Given the description of an element on the screen output the (x, y) to click on. 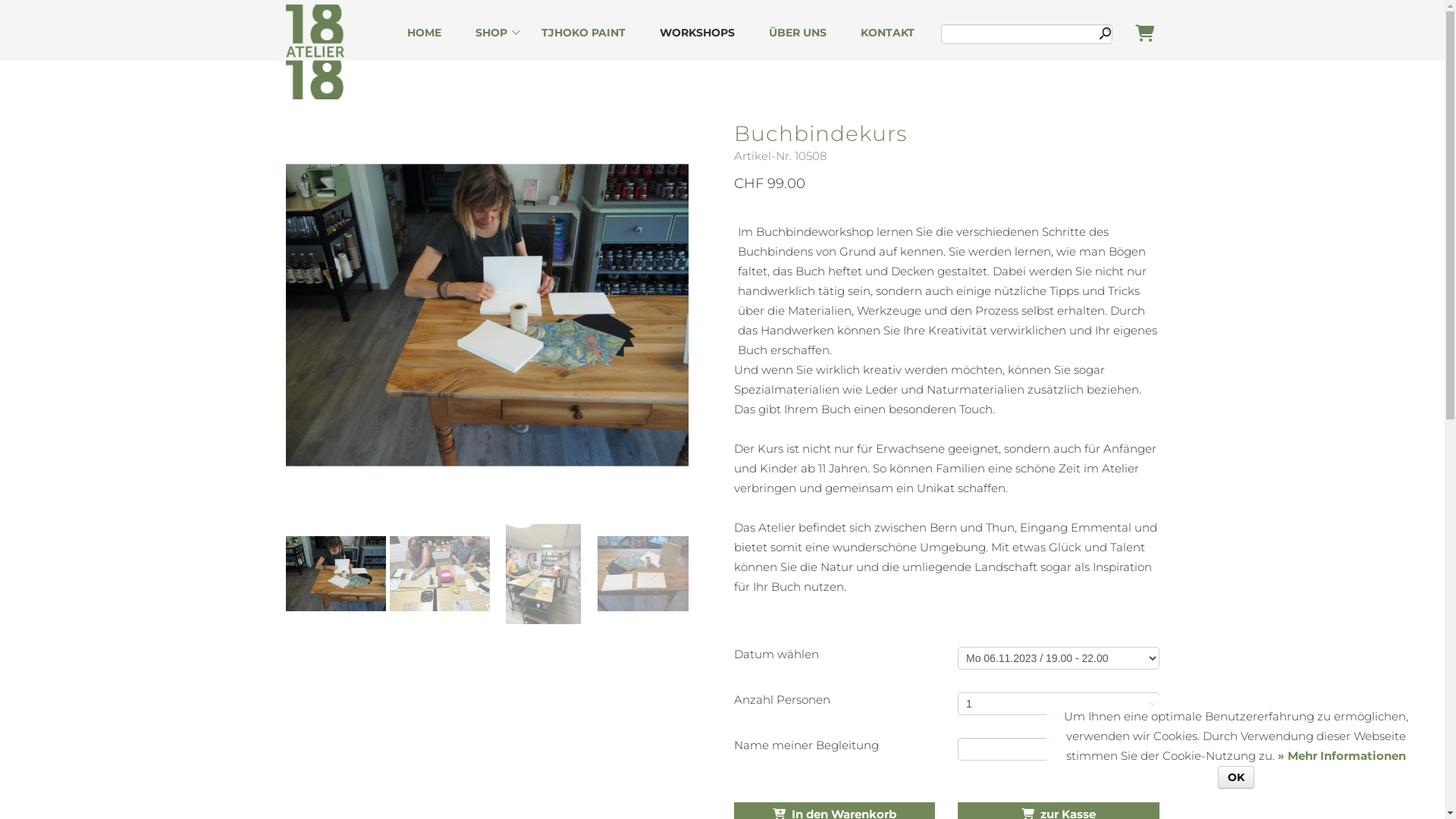
KONTAKT Element type: text (886, 32)
HOME Element type: text (423, 32)
SHOP Element type: text (490, 32)
OK Element type: text (1235, 776)
WORKSHOPS Element type: text (696, 32)
TJHOKO PAINT Element type: text (583, 32)
